Given the description of an element on the screen output the (x, y) to click on. 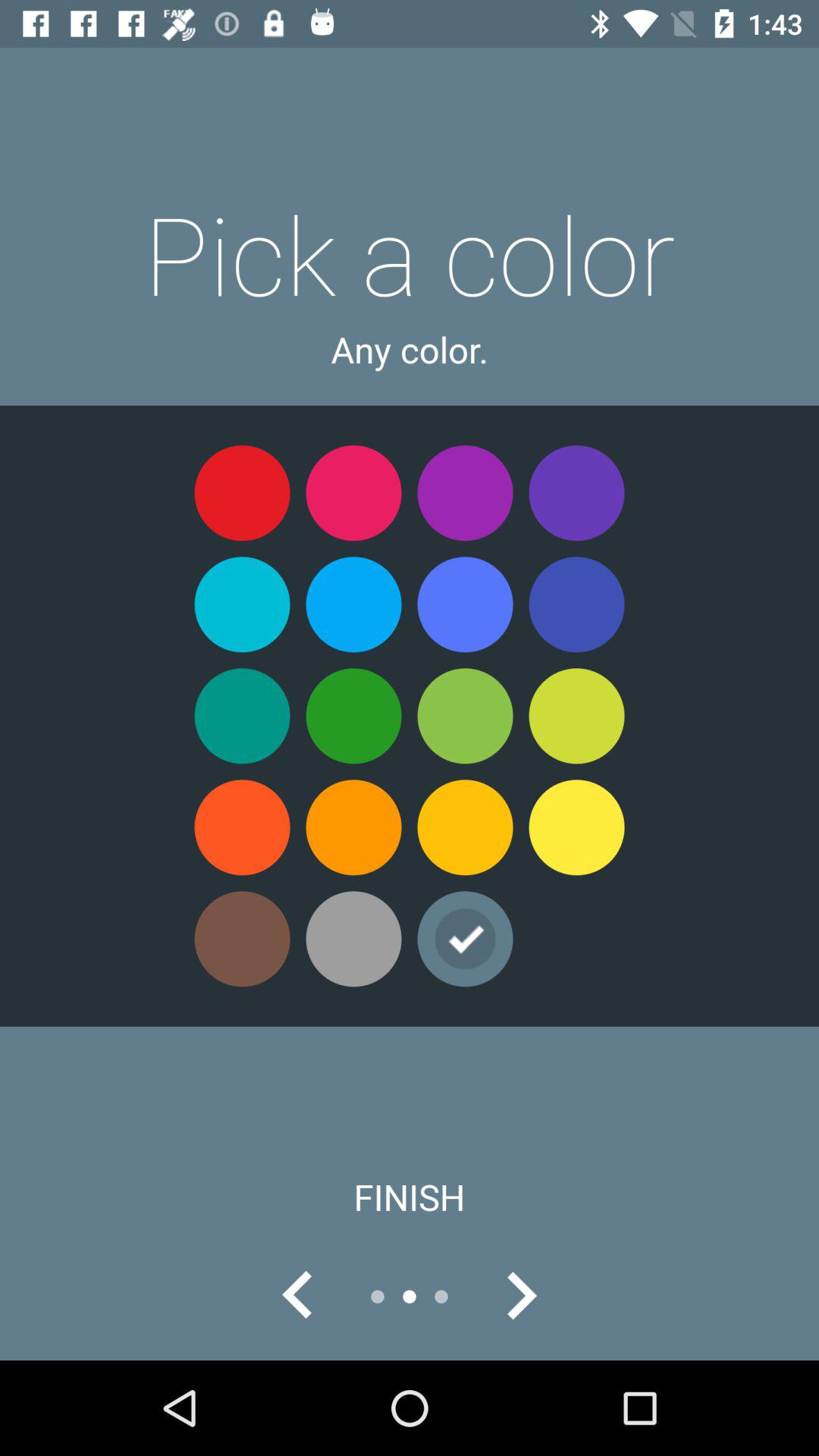
go right (520, 1296)
